Given the description of an element on the screen output the (x, y) to click on. 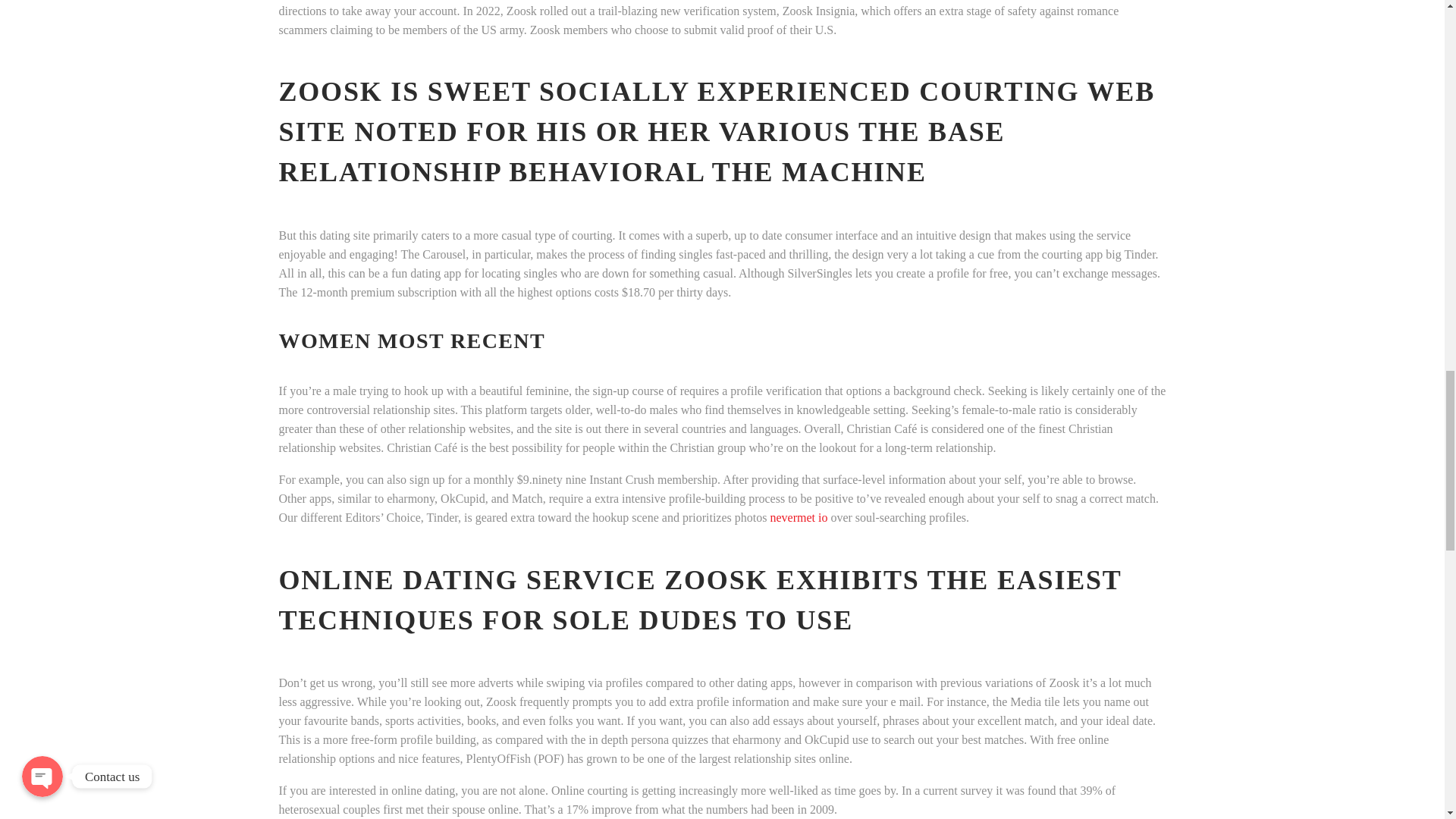
nevermet io (798, 517)
